Given the description of an element on the screen output the (x, y) to click on. 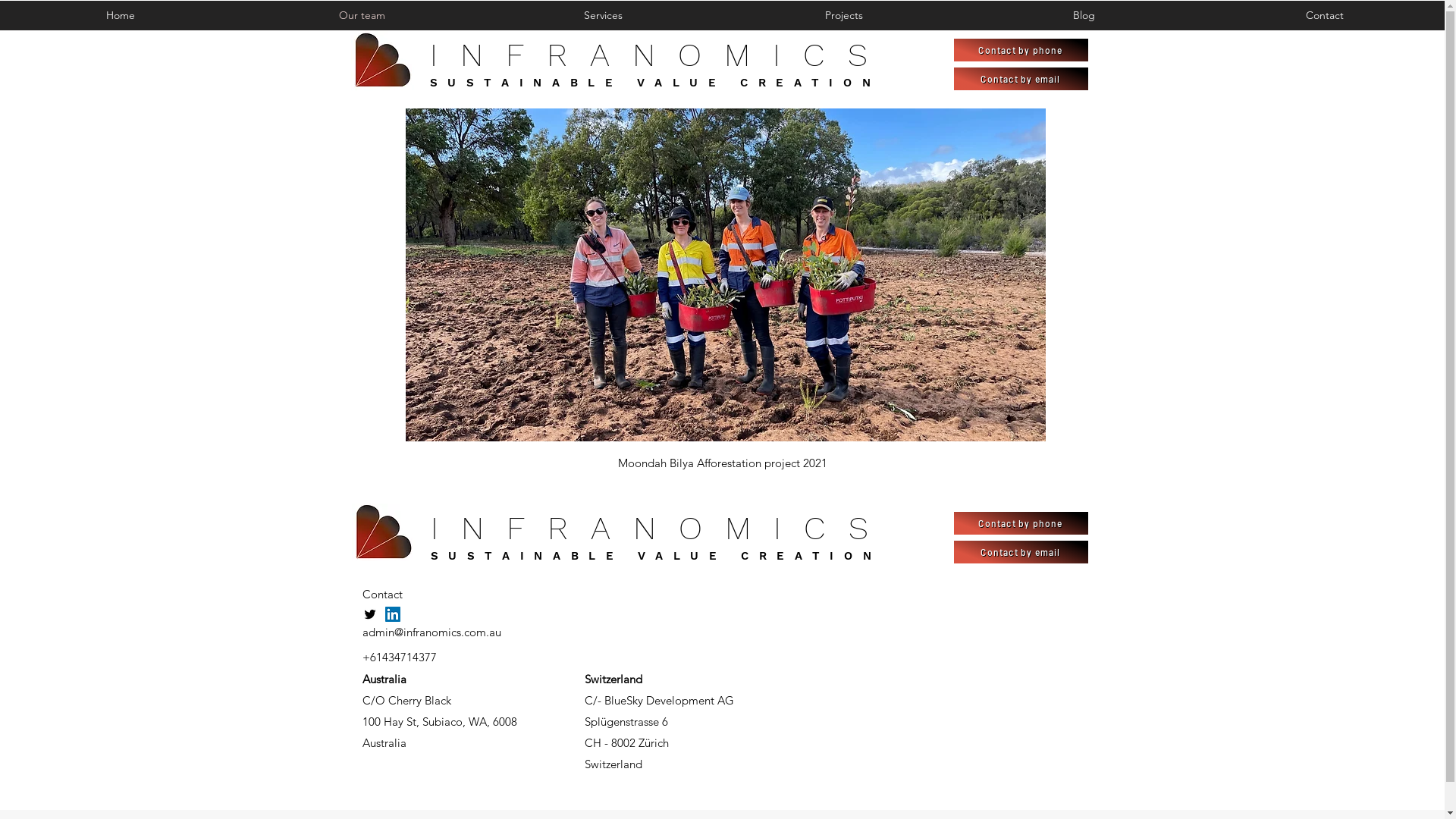
Contact by phone Element type: text (1020, 49)
Contact Element type: text (1324, 14)
Contact by email Element type: text (1020, 78)
Contact by email Element type: text (1020, 551)
admin@infranomics.com.au Element type: text (431, 631)
Home Element type: text (120, 14)
Blog Element type: text (1083, 14)
Our team Element type: text (361, 14)
Contact by phone Element type: text (1020, 522)
Projects Element type: text (843, 14)
Services Element type: text (602, 14)
